Given the description of an element on the screen output the (x, y) to click on. 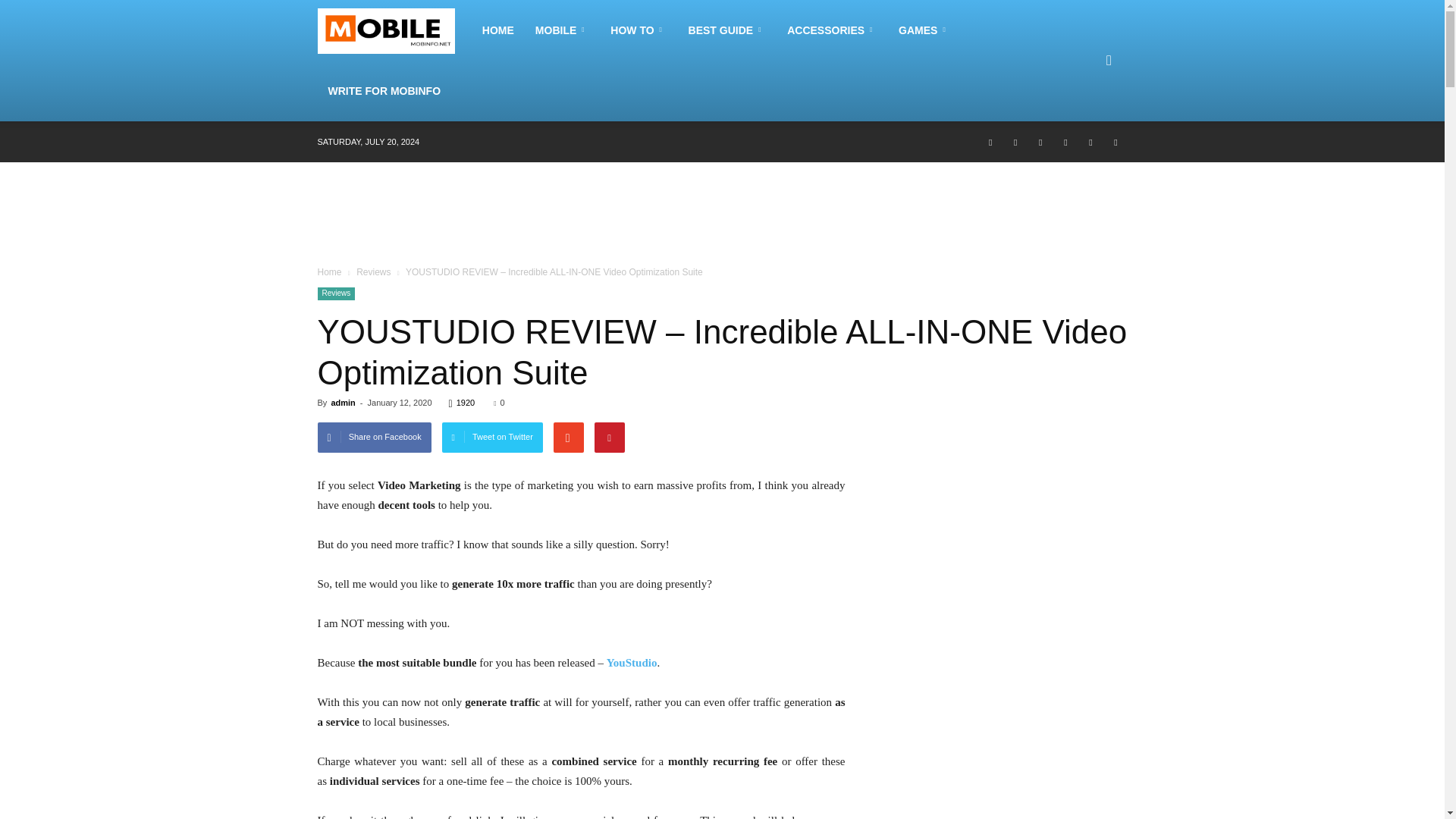
Mobile (561, 30)
MOBILE (561, 30)
Mobile Info (393, 30)
